Given the description of an element on the screen output the (x, y) to click on. 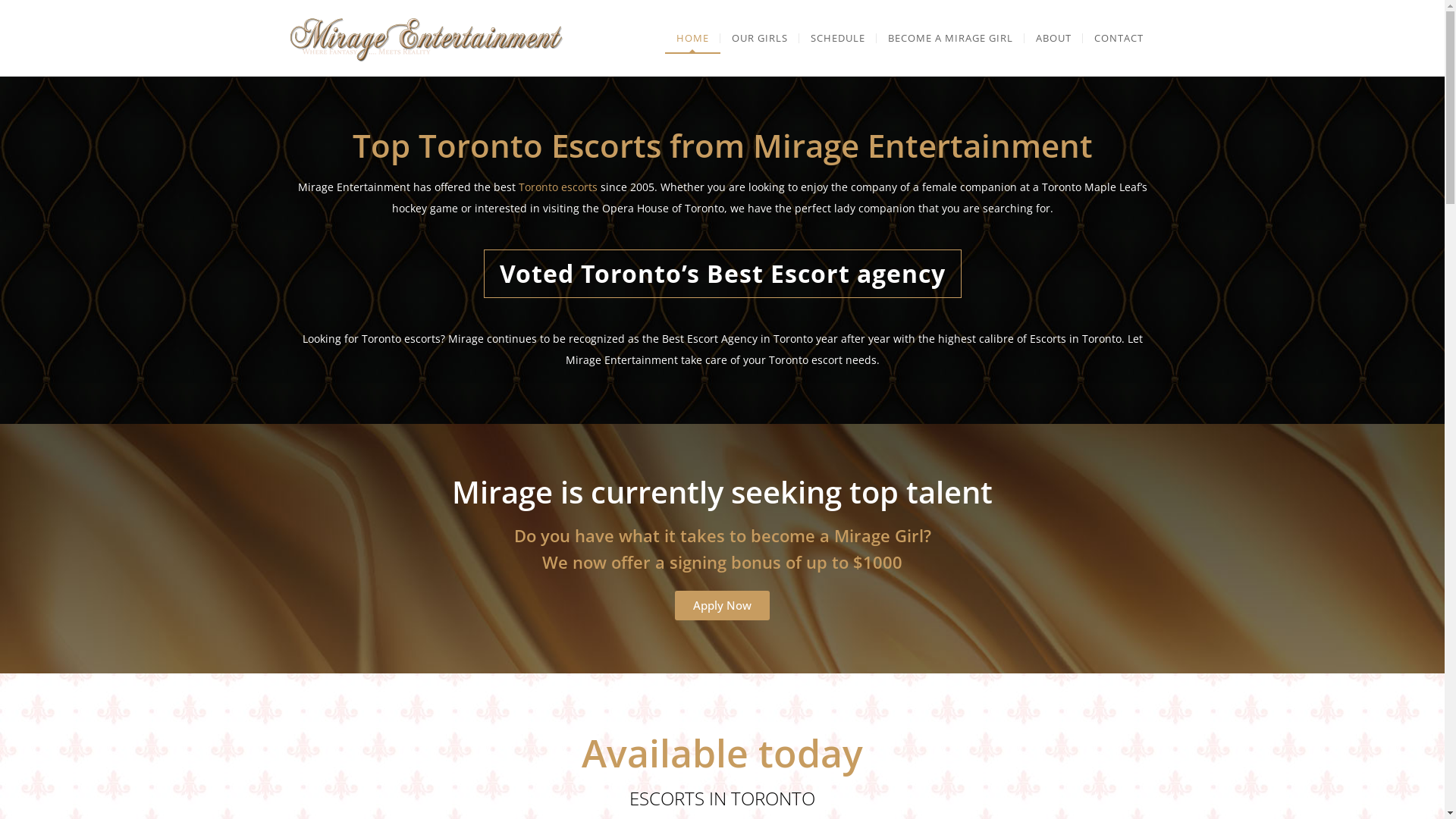
Apply Now Element type: text (721, 605)
Toronto escorts Element type: text (557, 186)
CONTACT Element type: text (1118, 37)
OUR GIRLS Element type: text (759, 37)
BECOME A MIRAGE GIRL Element type: text (950, 37)
SCHEDULE Element type: text (837, 37)
ABOUT Element type: text (1052, 37)
HOME Element type: text (691, 37)
